Given the description of an element on the screen output the (x, y) to click on. 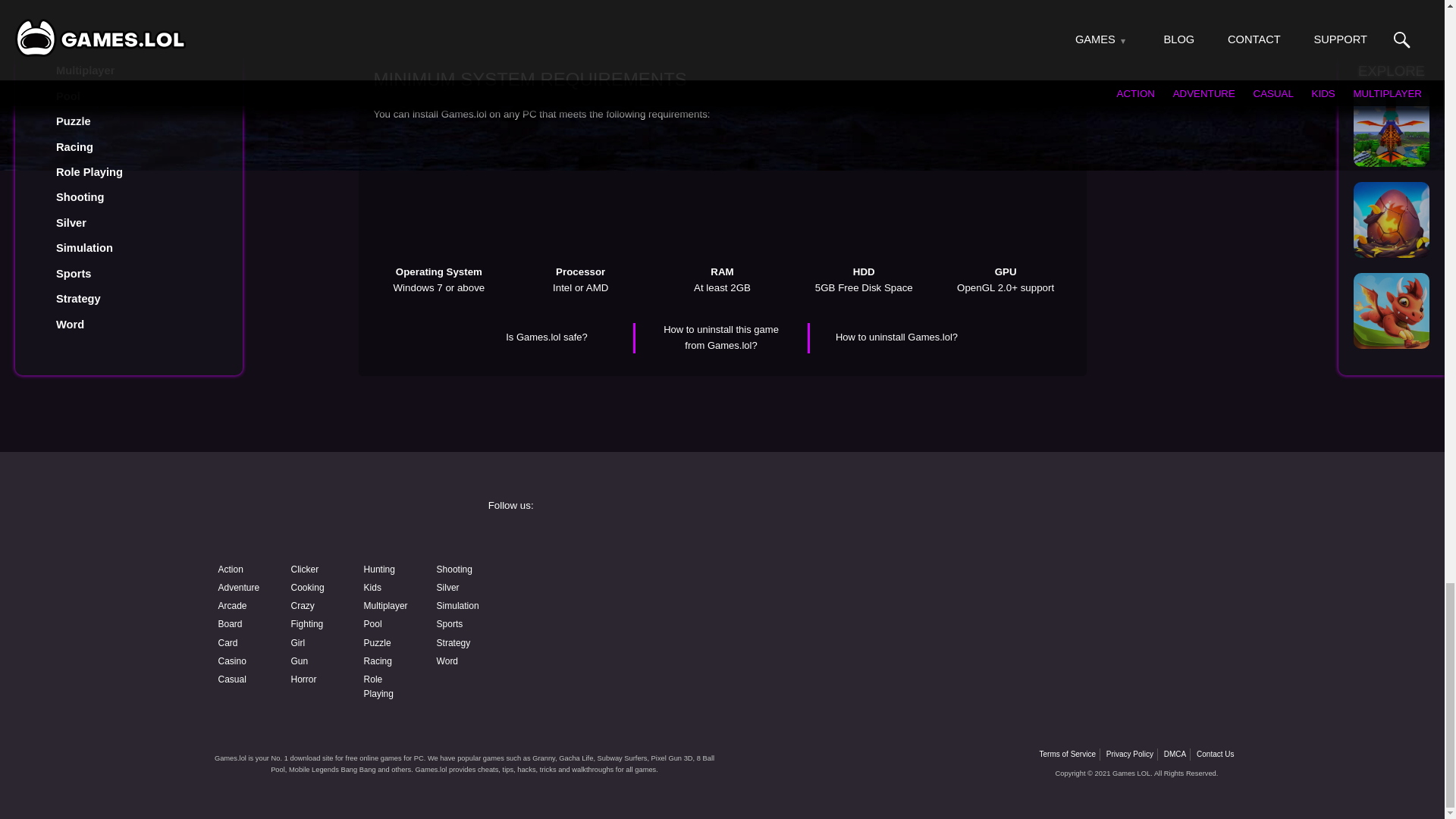
Instagram (838, 540)
Games.lol free game download website logo (319, 519)
Facebook (603, 540)
Discord (838, 579)
Reddit (603, 619)
Pinterest (1073, 579)
Twitter (1073, 540)
YouTube (603, 579)
